Given the description of an element on the screen output the (x, y) to click on. 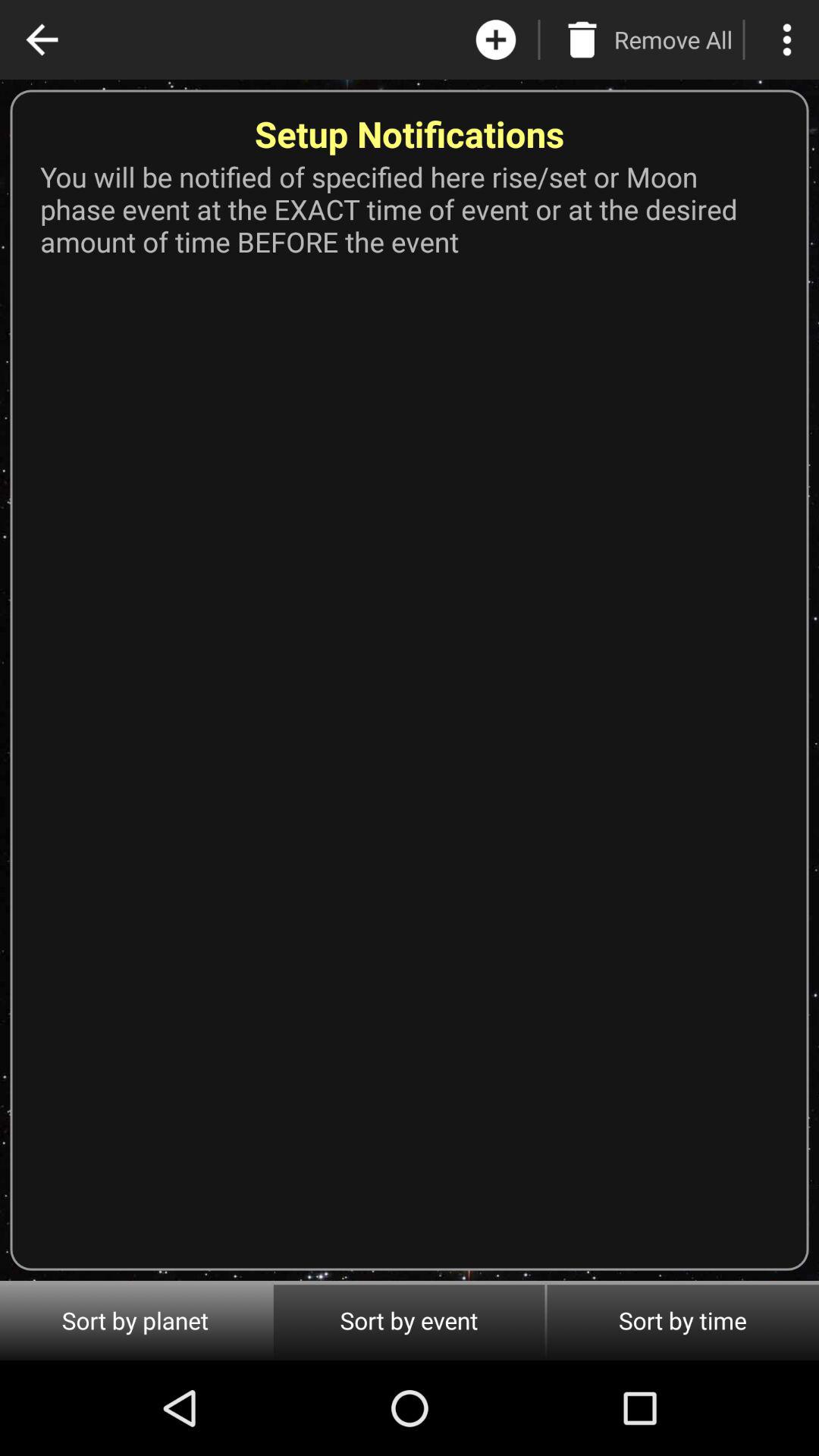
choose the remove all app (673, 39)
